Given the description of an element on the screen output the (x, y) to click on. 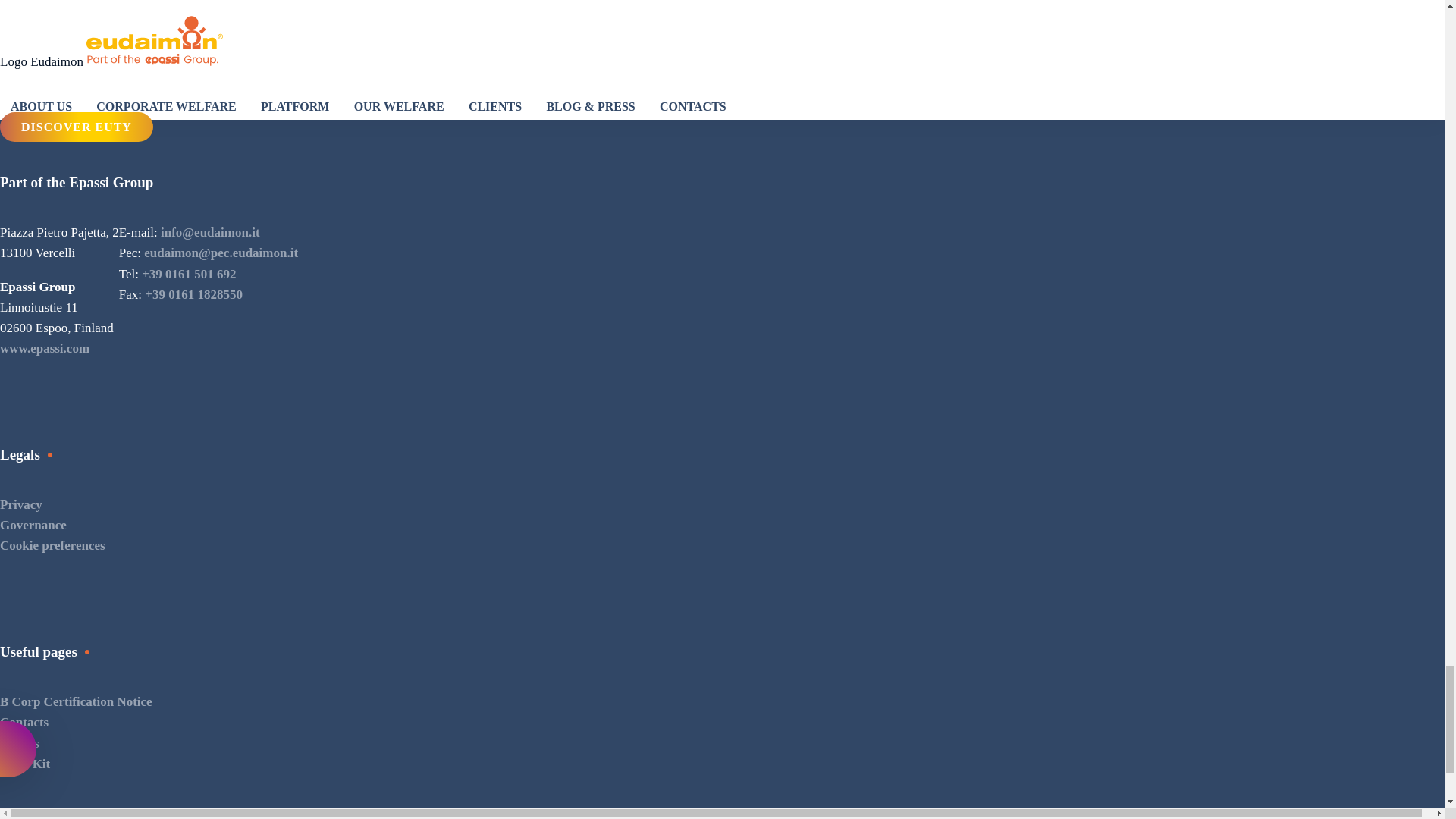
Join us (19, 743)
B Corp Certification Notice (76, 701)
www.epassi.com (44, 348)
Cookie preferences (52, 545)
Governance (33, 524)
Privacy (21, 504)
Contacts (24, 721)
